Given the description of an element on the screen output the (x, y) to click on. 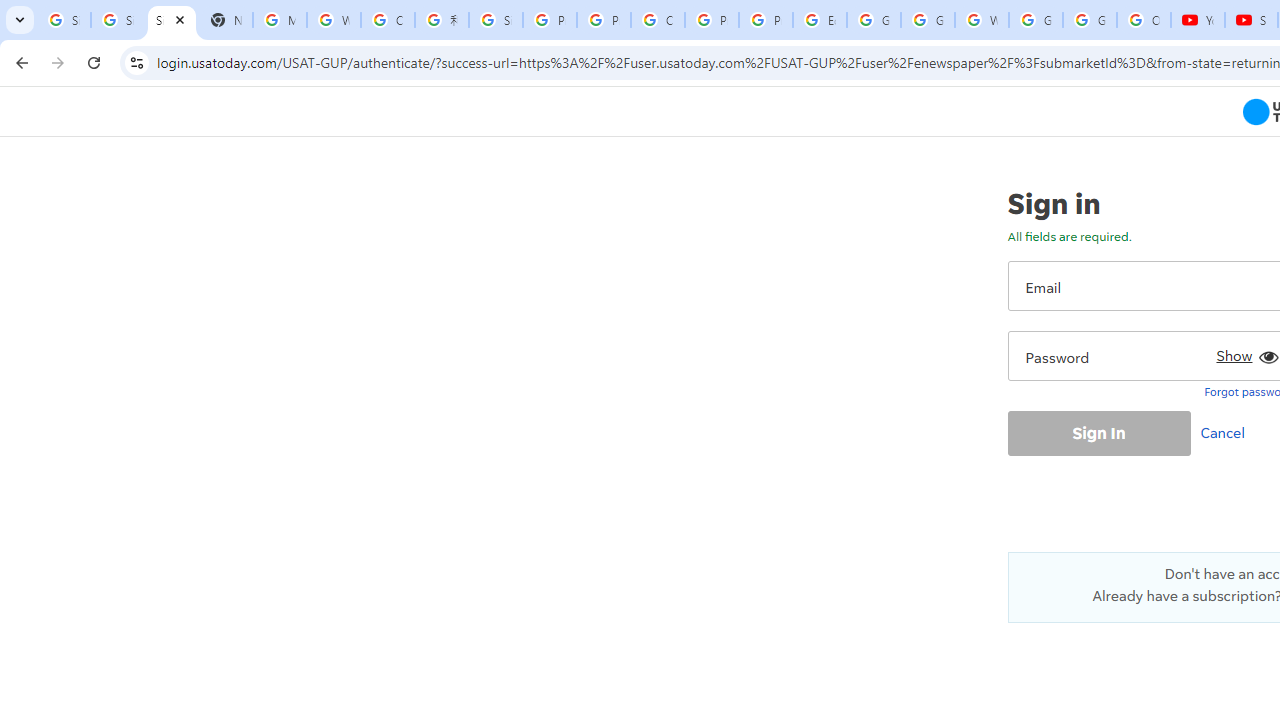
Show (1244, 351)
